Given the description of an element on the screen output the (x, y) to click on. 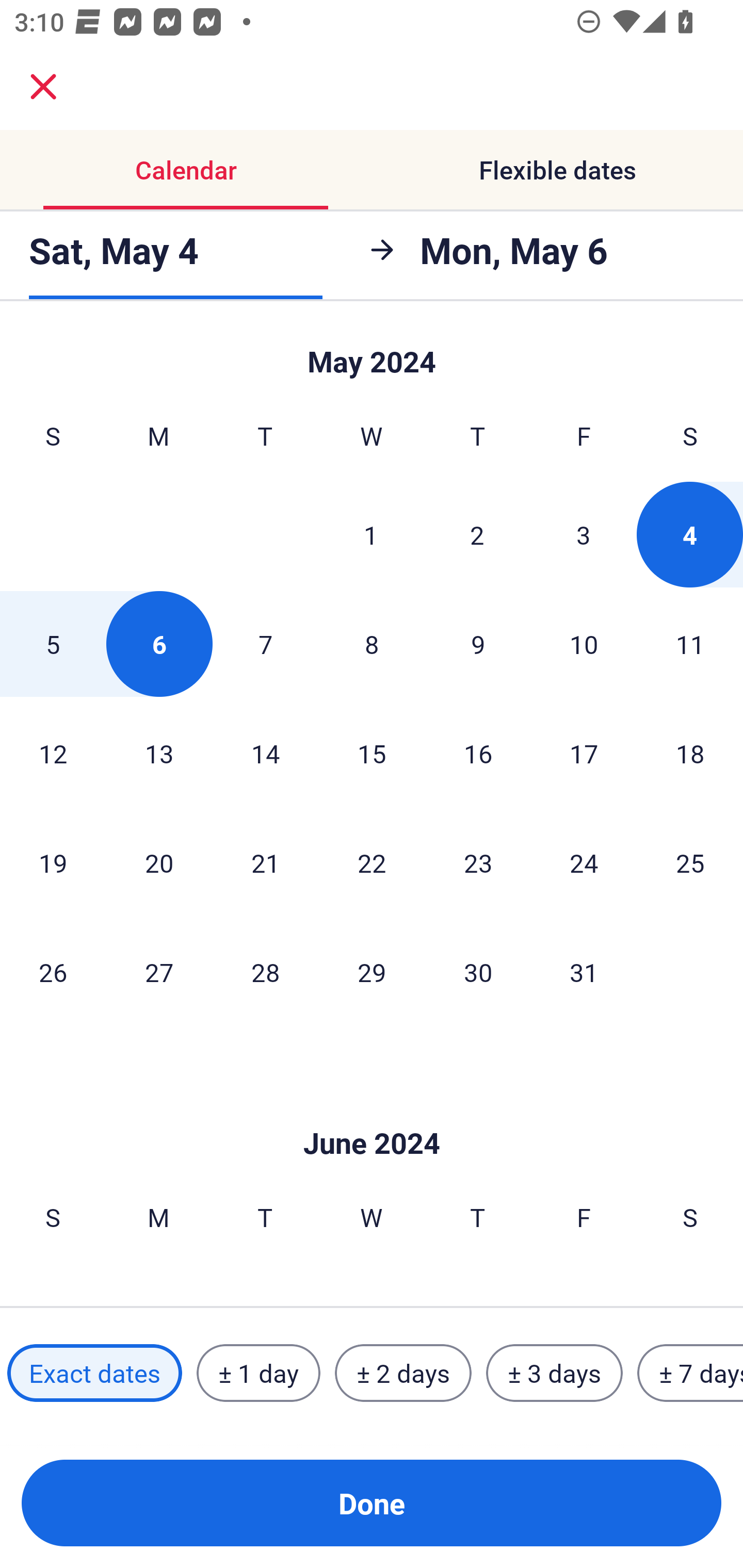
close. (43, 86)
Flexible dates (557, 170)
Skip to Done (371, 352)
1 Wednesday, May 1, 2024 (371, 534)
2 Thursday, May 2, 2024 (477, 534)
3 Friday, May 3, 2024 (583, 534)
7 Tuesday, May 7, 2024 (265, 643)
8 Wednesday, May 8, 2024 (371, 643)
9 Thursday, May 9, 2024 (477, 643)
10 Friday, May 10, 2024 (584, 643)
11 Saturday, May 11, 2024 (690, 643)
12 Sunday, May 12, 2024 (53, 752)
13 Monday, May 13, 2024 (159, 752)
14 Tuesday, May 14, 2024 (265, 752)
15 Wednesday, May 15, 2024 (371, 752)
16 Thursday, May 16, 2024 (477, 752)
17 Friday, May 17, 2024 (584, 752)
18 Saturday, May 18, 2024 (690, 752)
19 Sunday, May 19, 2024 (53, 862)
20 Monday, May 20, 2024 (159, 862)
21 Tuesday, May 21, 2024 (265, 862)
22 Wednesday, May 22, 2024 (371, 862)
23 Thursday, May 23, 2024 (477, 862)
24 Friday, May 24, 2024 (584, 862)
25 Saturday, May 25, 2024 (690, 862)
26 Sunday, May 26, 2024 (53, 971)
27 Monday, May 27, 2024 (159, 971)
28 Tuesday, May 28, 2024 (265, 971)
29 Wednesday, May 29, 2024 (371, 971)
30 Thursday, May 30, 2024 (477, 971)
31 Friday, May 31, 2024 (584, 971)
Skip to Done (371, 1112)
Exact dates (94, 1372)
± 1 day (258, 1372)
± 2 days (403, 1372)
± 3 days (553, 1372)
± 7 days (690, 1372)
Done (371, 1502)
